Given the description of an element on the screen output the (x, y) to click on. 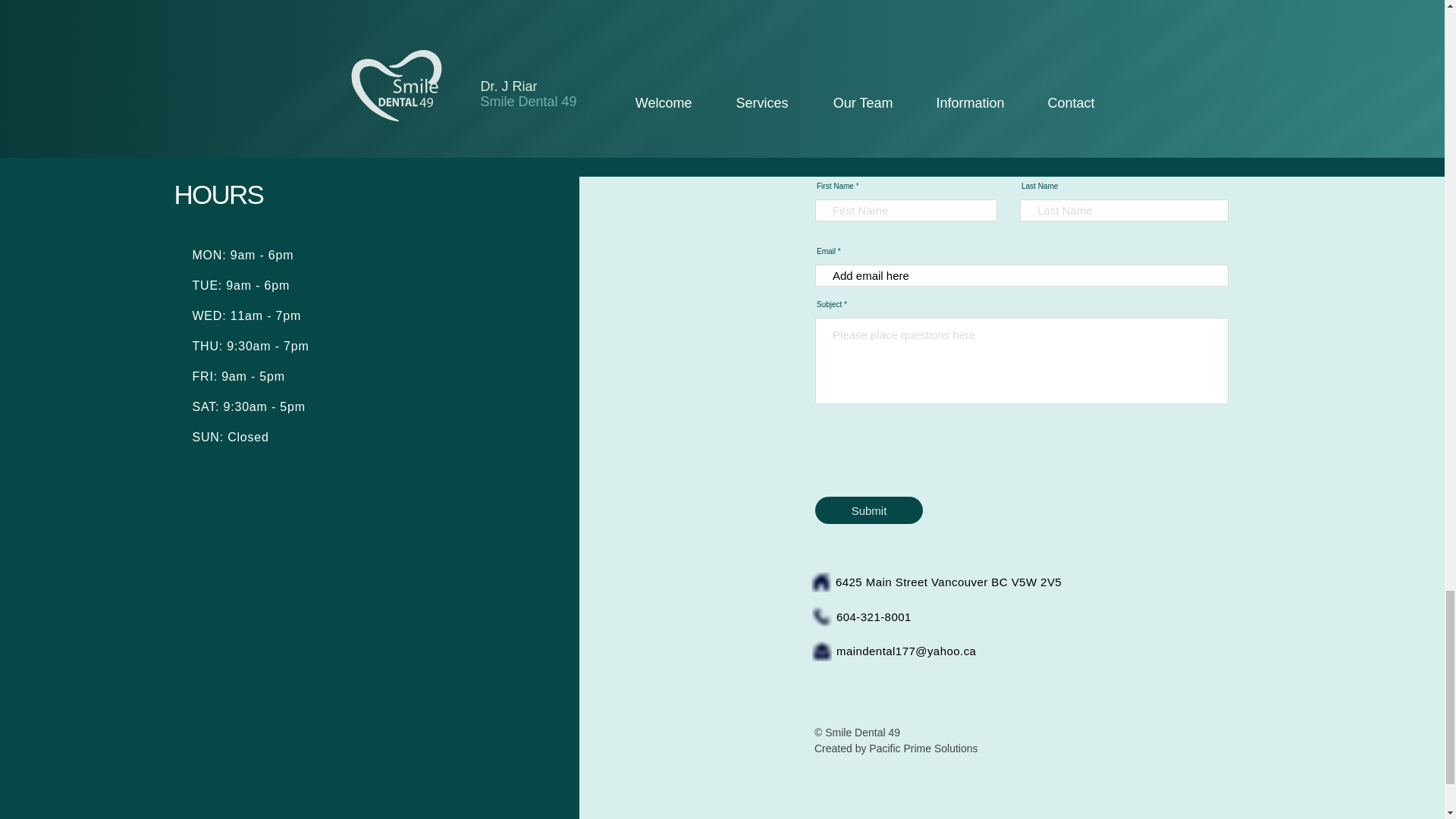
First Name (906, 210)
Submit (869, 510)
Last Name (1124, 210)
